Given the description of an element on the screen output the (x, y) to click on. 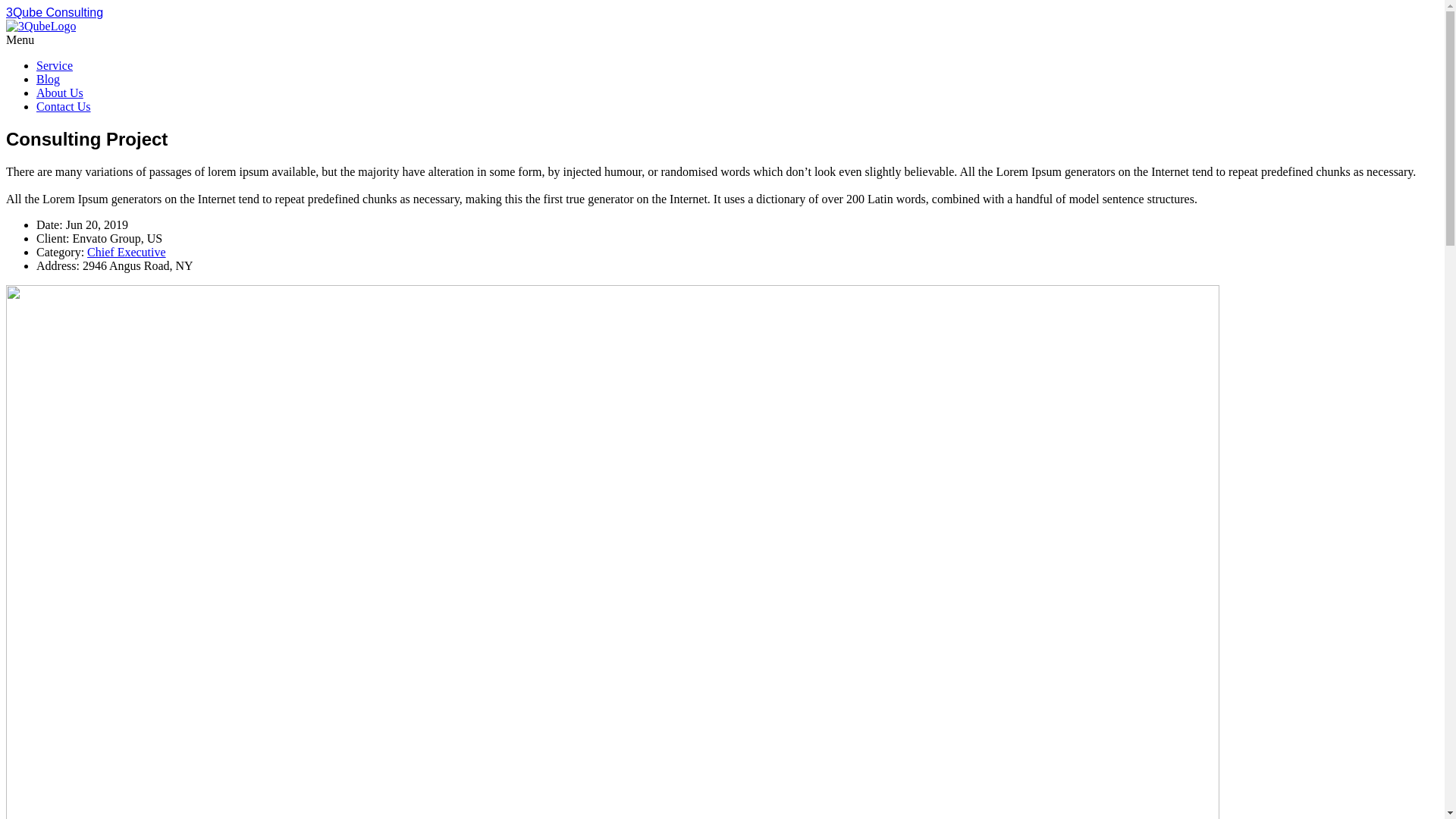
Service Element type: text (54, 65)
Chief Executive Element type: text (126, 251)
Blog Element type: text (47, 78)
About Us Element type: text (59, 92)
3Qube Consulting Element type: text (54, 12)
Contact Us Element type: text (63, 106)
